Given the description of an element on the screen output the (x, y) to click on. 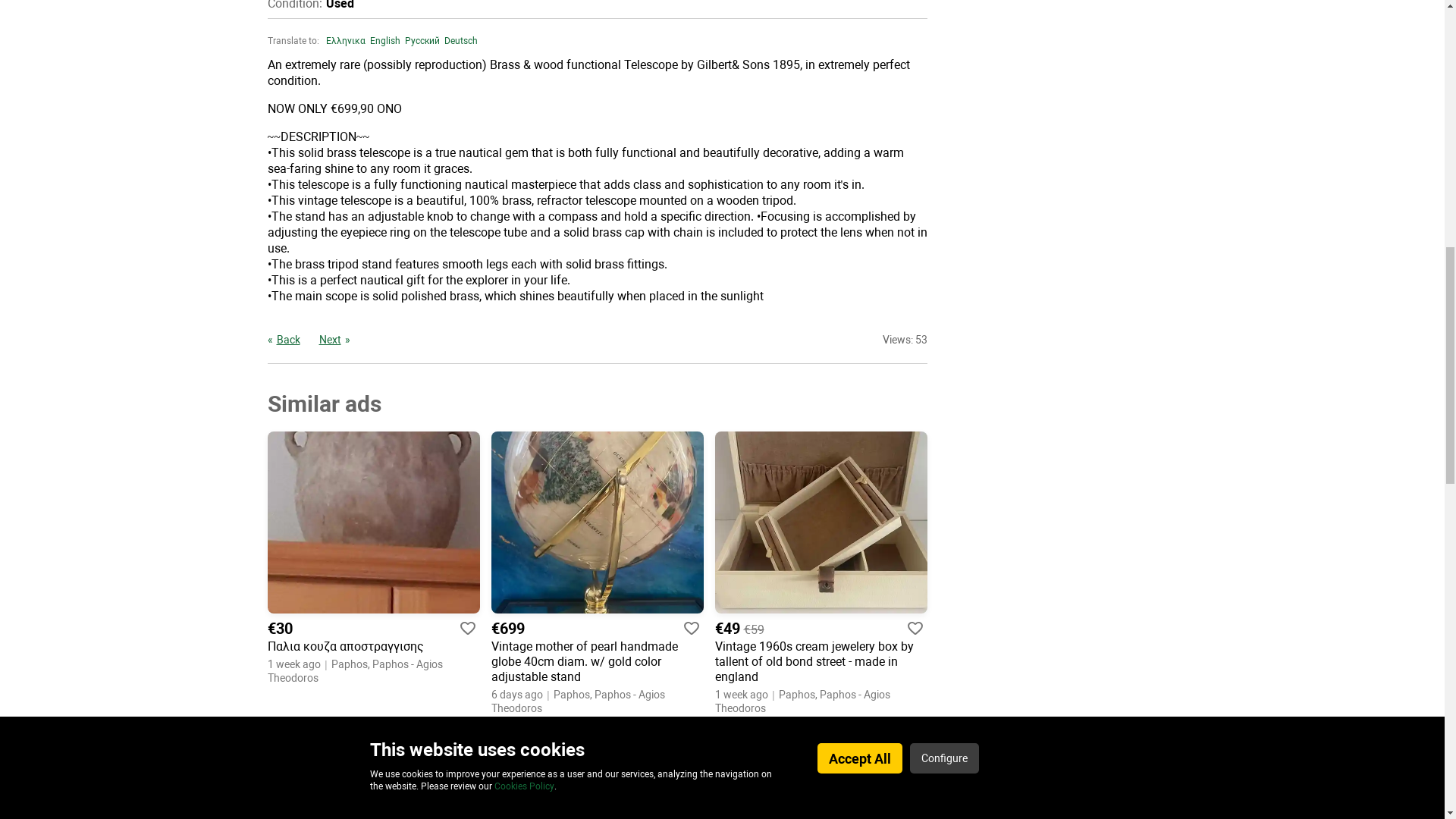
Back (282, 339)
Next (333, 339)
